Given the description of an element on the screen output the (x, y) to click on. 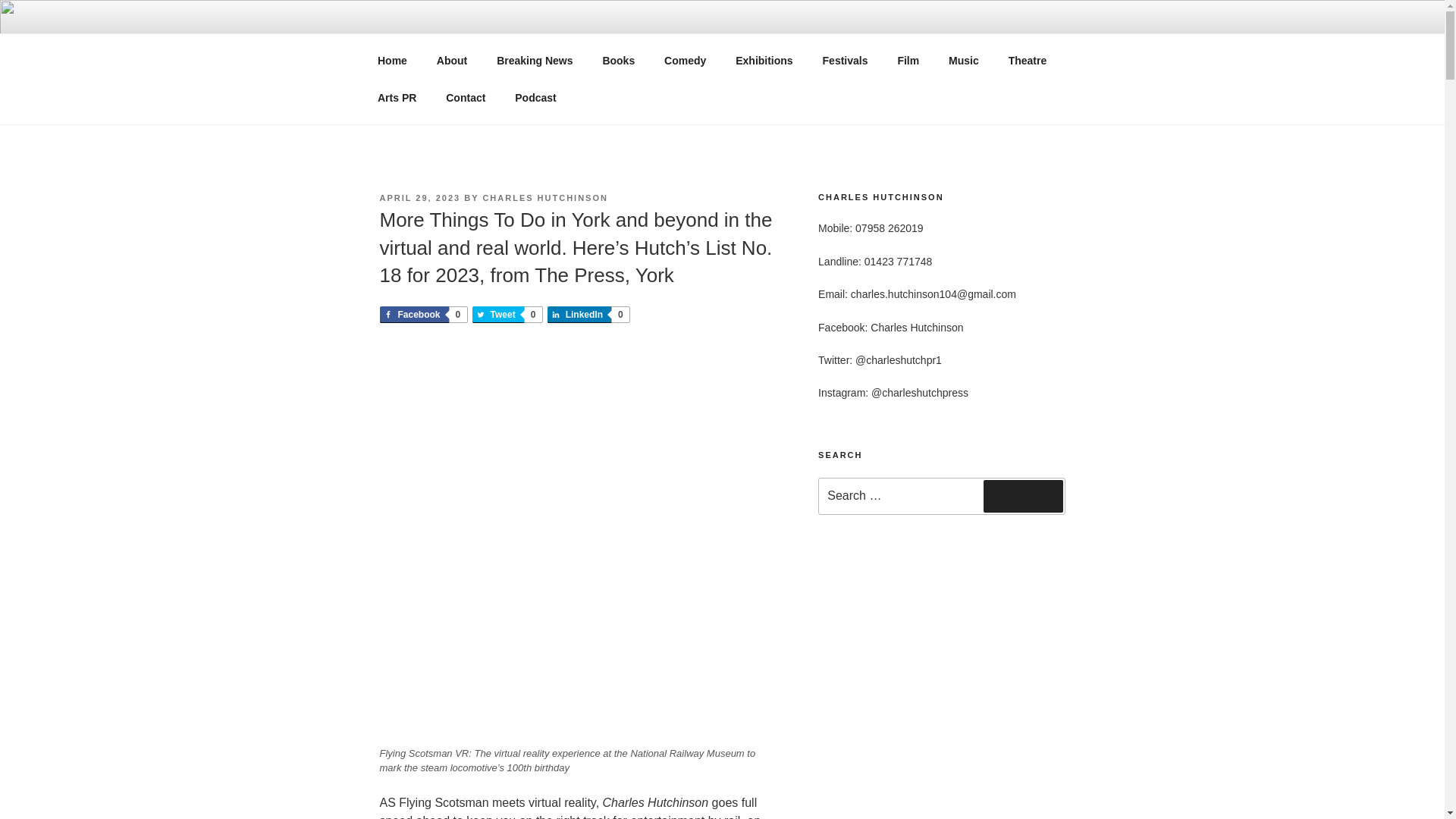
CHARLESHUTCHPRESS (557, 52)
Books (421, 314)
Home (618, 60)
Theatre (392, 60)
Film (1026, 60)
Music (908, 60)
Share on Facebook (964, 60)
Breaking News (421, 314)
